Given the description of an element on the screen output the (x, y) to click on. 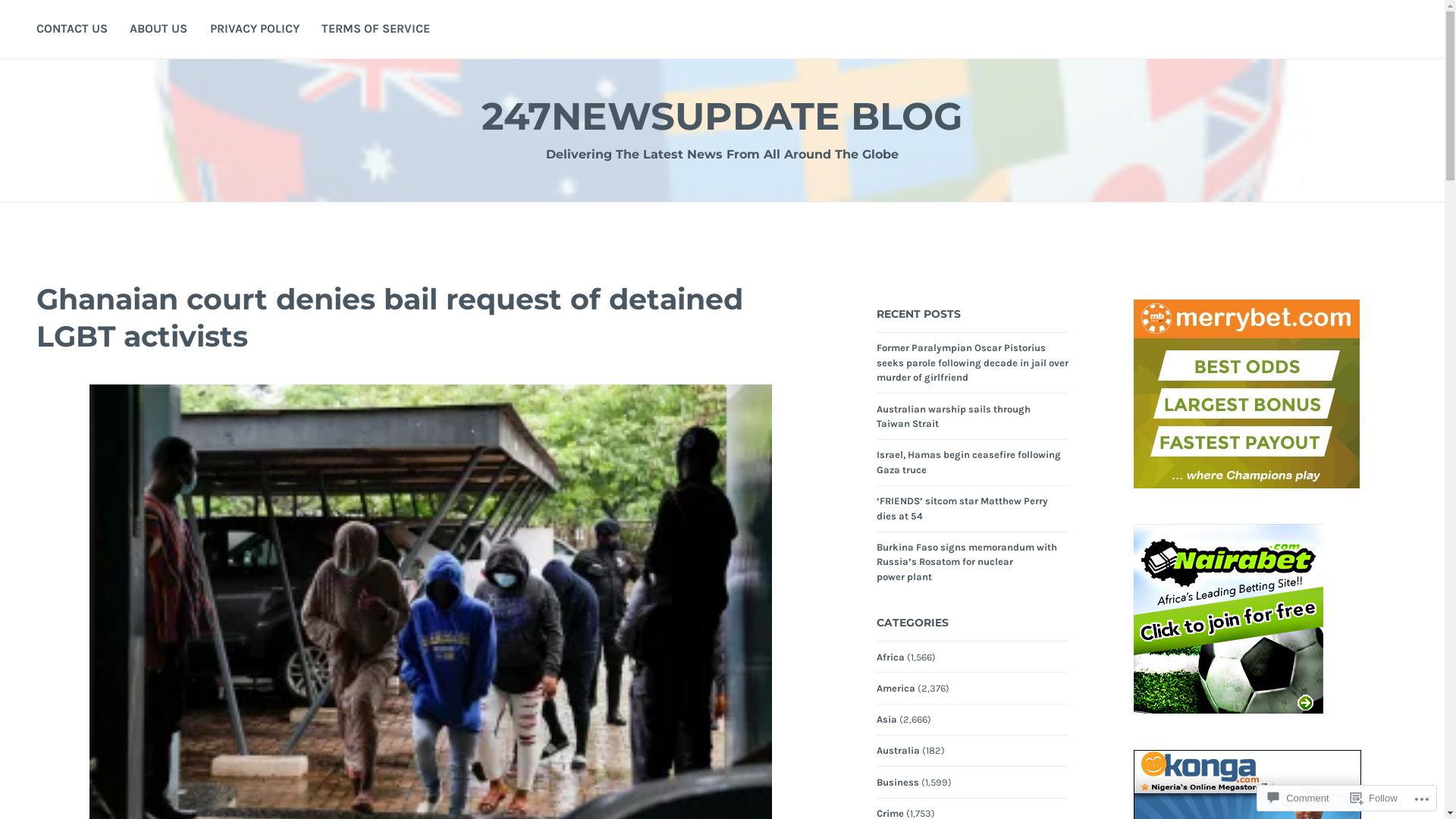
Business Element type: text (897, 782)
PRIVACY POLICY Element type: text (254, 29)
America Element type: text (895, 688)
247NEWSUPDATE BLOG Element type: text (722, 116)
CONTACT US Element type: text (71, 29)
Comment Element type: text (1297, 797)
Israel, Hamas begin ceasefire following Gaza truce Element type: text (968, 462)
Australian warship sails through Taiwan Strait Element type: text (953, 416)
Asia Element type: text (886, 719)
Africa Element type: text (890, 657)
ABOUT US Element type: text (158, 29)
Follow Element type: text (1373, 797)
Australia Element type: text (897, 750)
TERMS OF SERVICE Element type: text (375, 29)
